Given the description of an element on the screen output the (x, y) to click on. 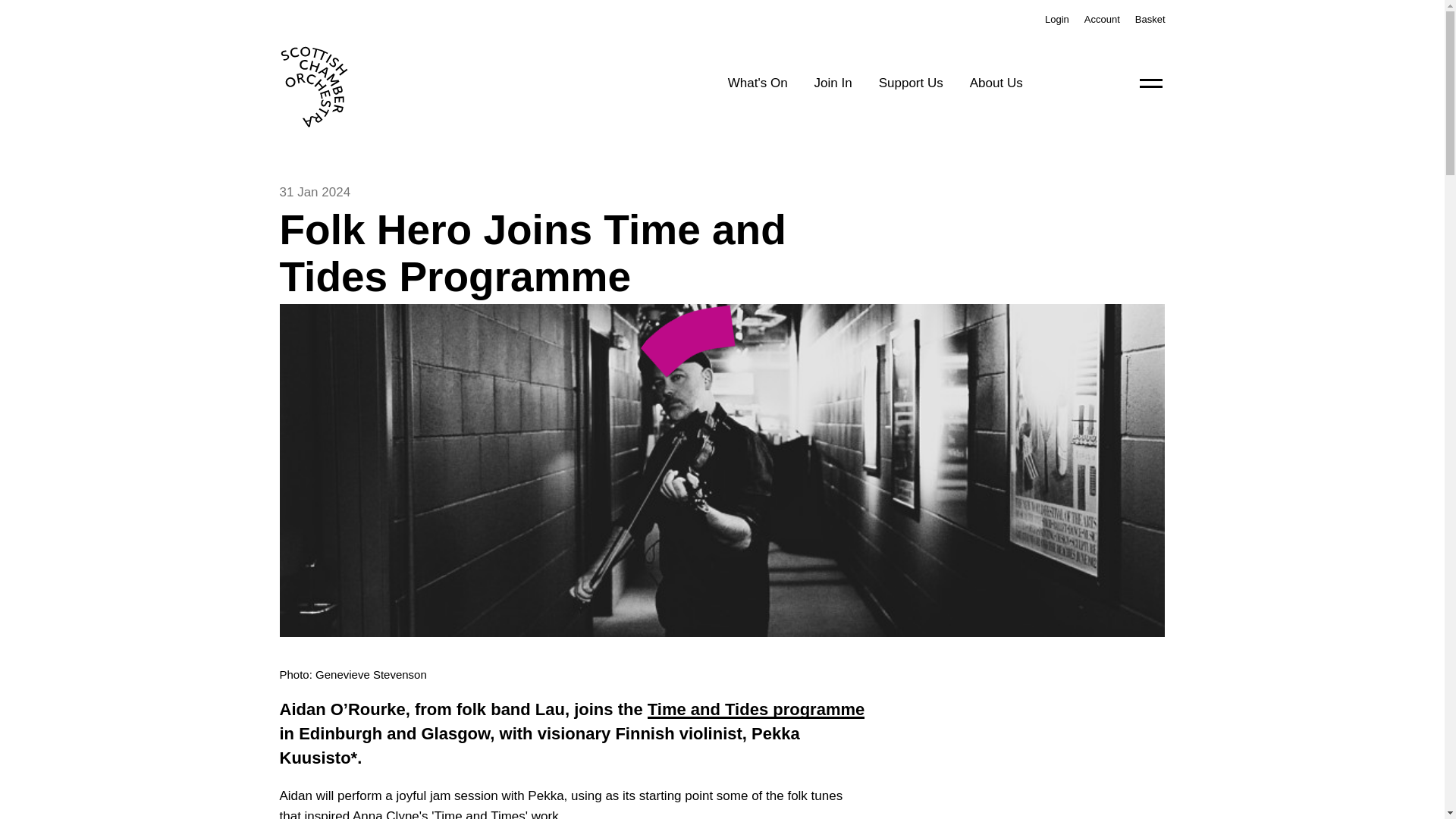
What's On (757, 83)
Support Us (911, 83)
Basket (1150, 19)
About Us (996, 83)
Account (1101, 19)
Time and Tides programme (755, 709)
Join In (832, 83)
Login (1056, 19)
Scottish Chamber Orchestra (353, 82)
